Given the description of an element on the screen output the (x, y) to click on. 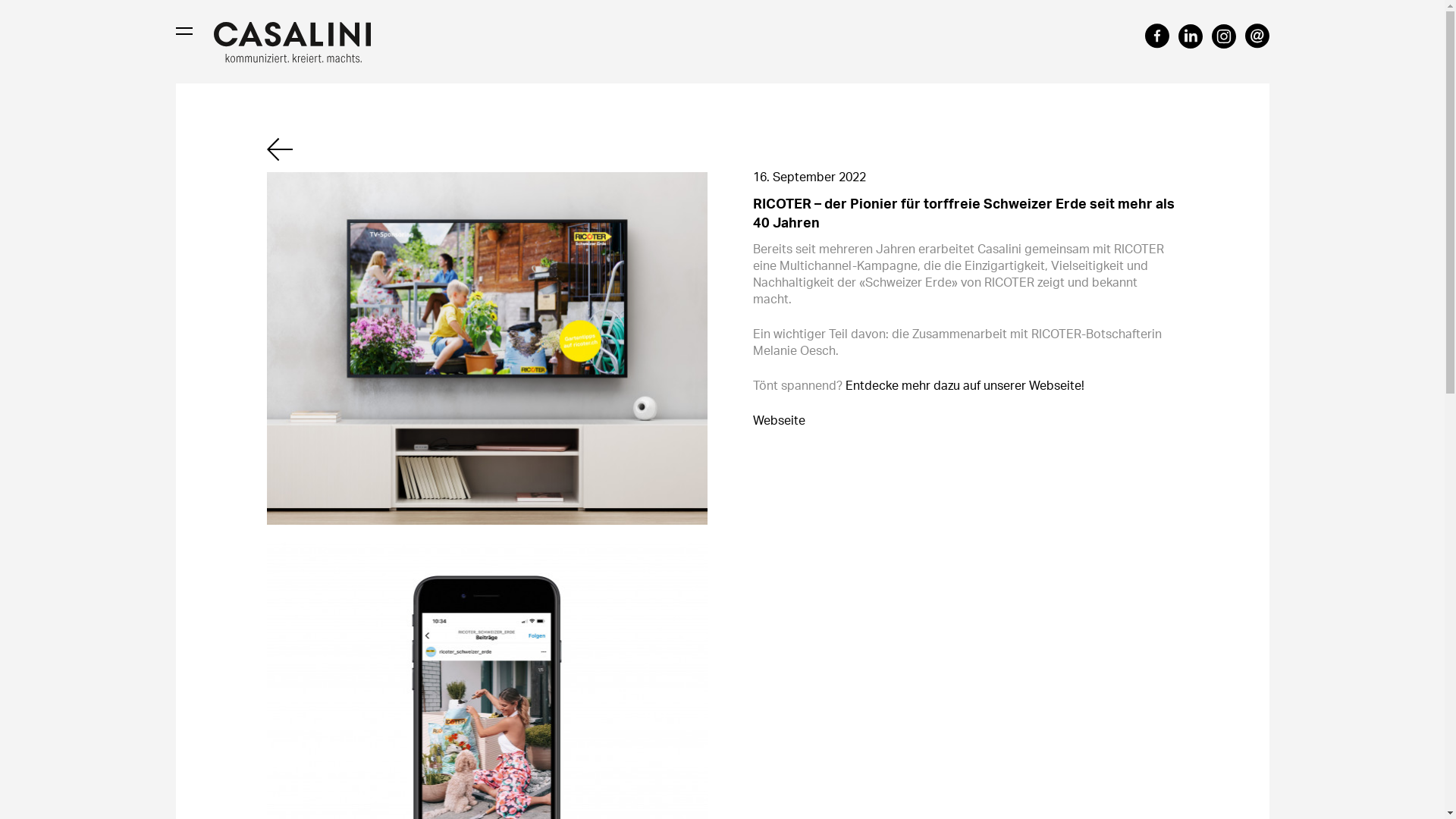
Instagram Element type: text (1223, 35)
Kontakt Element type: text (1257, 35)
Webseite Element type: text (778, 419)
Entdecke mehr dazu auf unserer Webseite! Element type: text (963, 384)
Facebook Element type: text (1157, 35)
Navigation ausklappen Element type: text (183, 30)
